Given the description of an element on the screen output the (x, y) to click on. 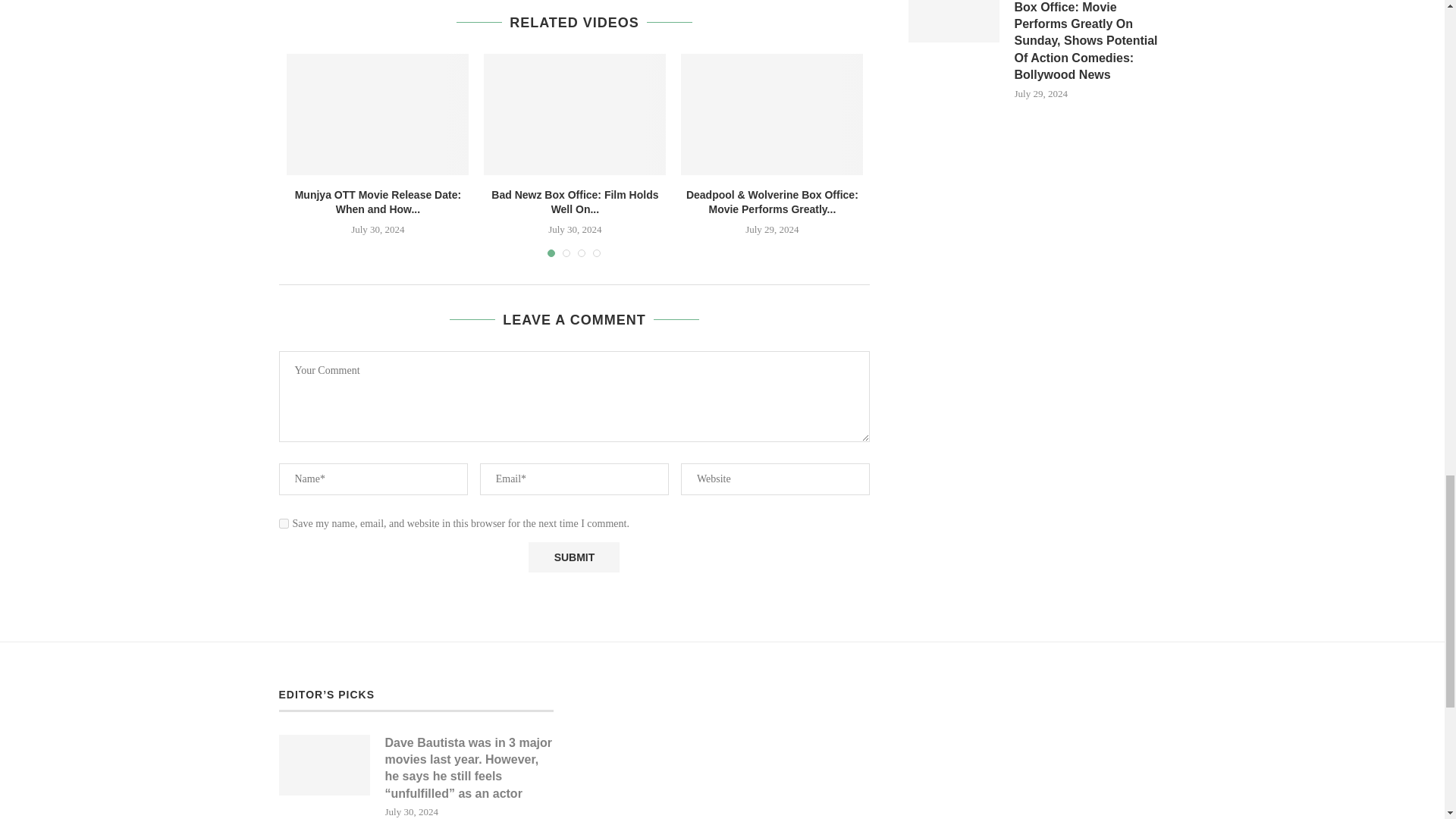
yes (283, 523)
Munjya OTT Movie Release Date: When and How... (378, 202)
Bad Newz Box Office: Film Holds Well On... (575, 202)
Submit (574, 557)
